Given the description of an element on the screen output the (x, y) to click on. 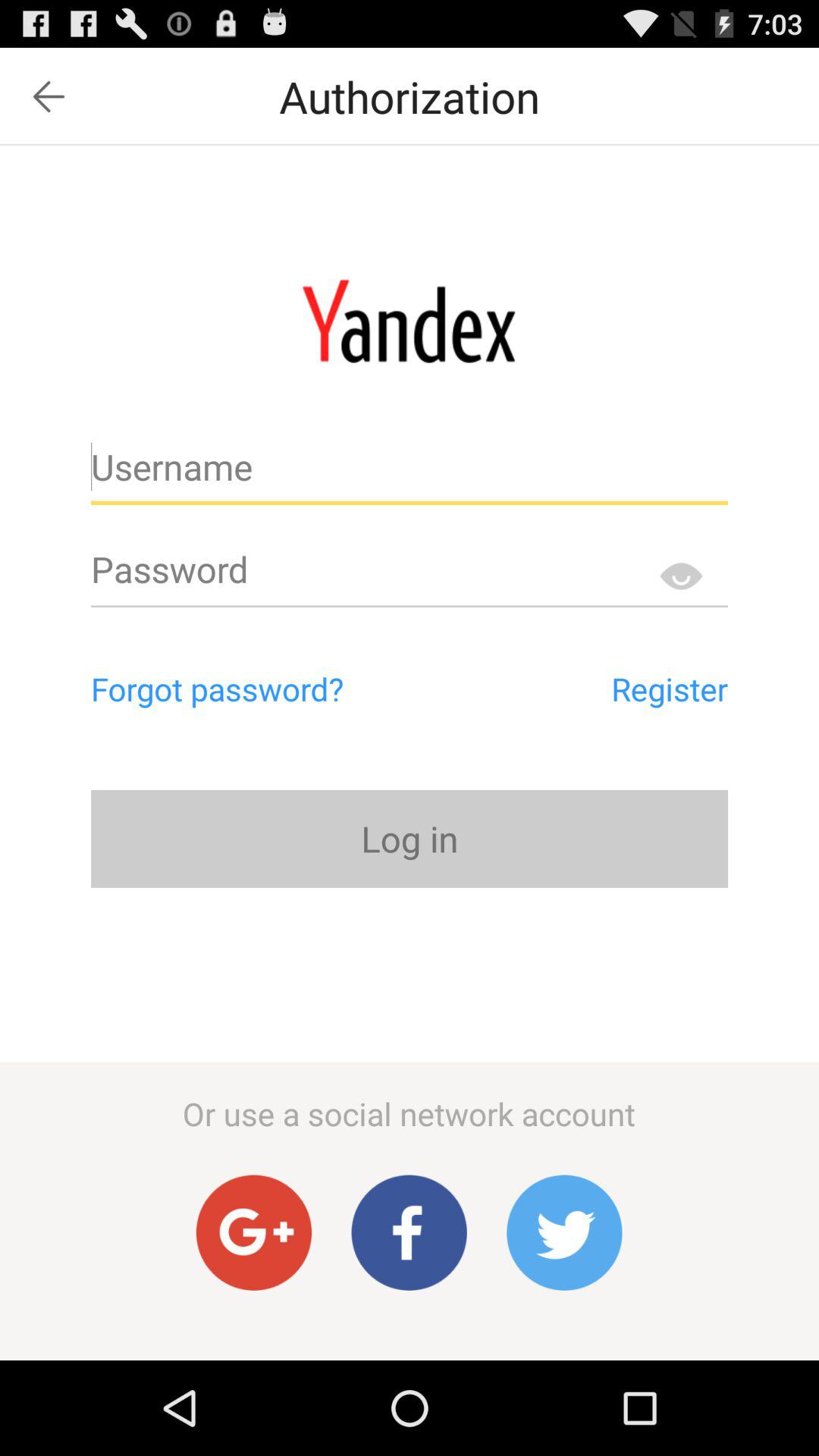
enter password (409, 575)
